Given the description of an element on the screen output the (x, y) to click on. 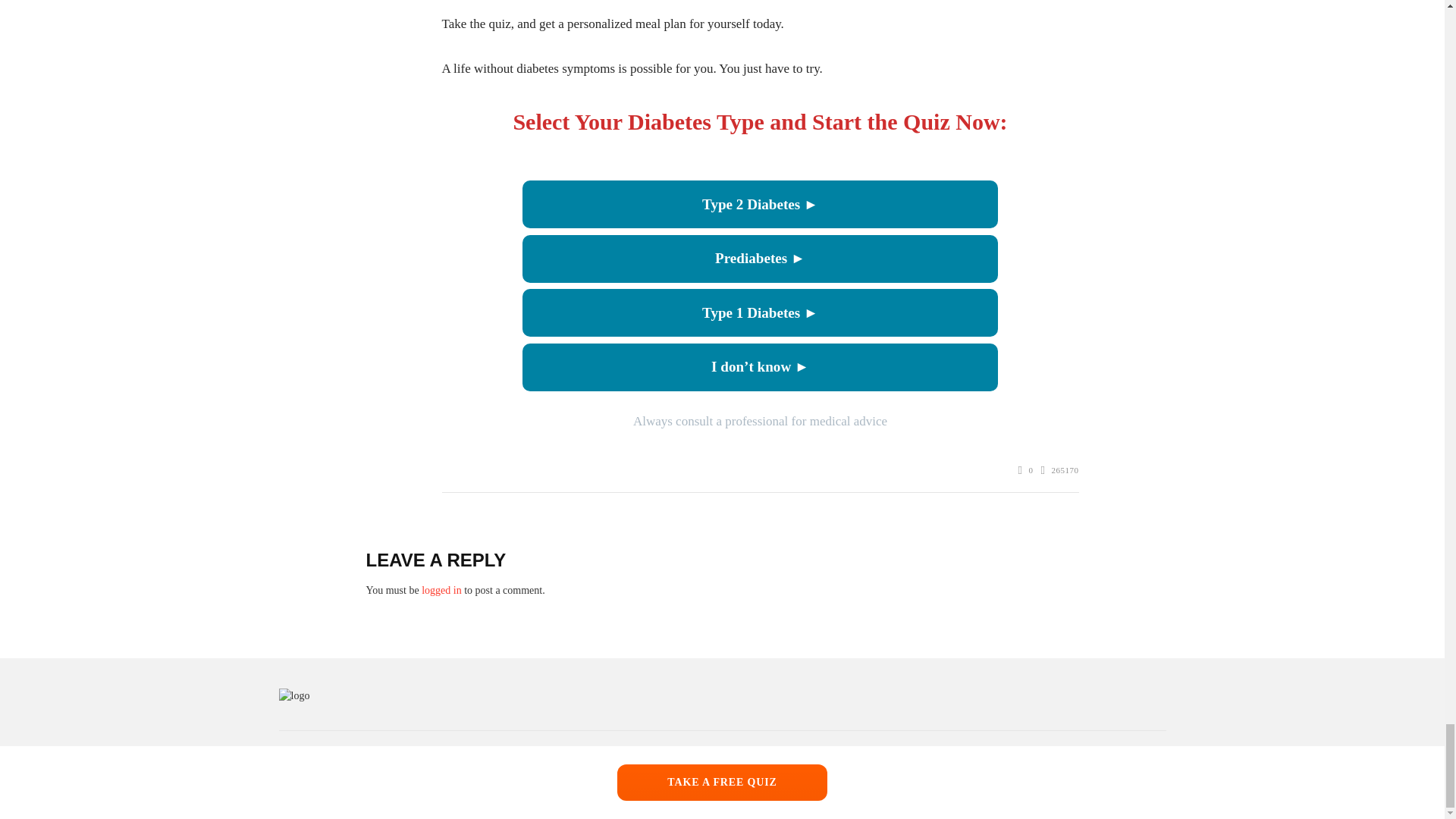
0 Comments (1025, 470)
ABOUT US (1043, 763)
MEDICAL TEAM (1122, 763)
EDITORIAL PROCESS (1105, 783)
logged in (441, 590)
0 (1025, 470)
265170 (1059, 470)
265170 Views (1059, 470)
DISCLAIMERS (870, 763)
PRIVACY POLICY (962, 763)
